Given the description of an element on the screen output the (x, y) to click on. 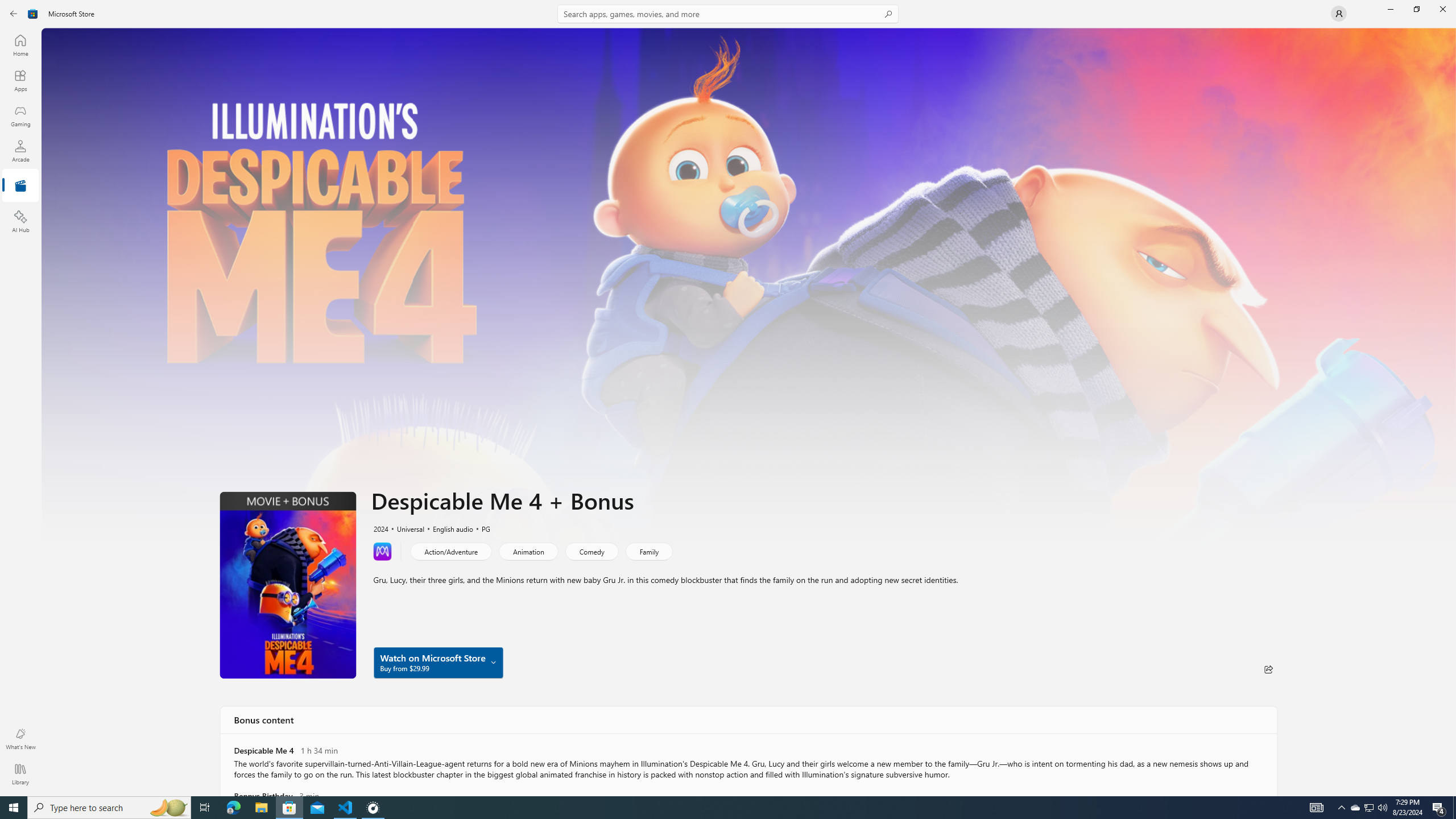
Watch on Microsoft Store Buy from $29.99 (437, 662)
Learn more about Movies Anywhere (381, 551)
Family (648, 551)
Share (1267, 669)
Search (727, 13)
Close Microsoft Store (1442, 9)
Restore Microsoft Store (1416, 9)
Home (20, 45)
Class: Image (32, 13)
AI Hub (20, 221)
Entertainment (20, 185)
Library (20, 773)
AutomationID: NavigationControl (728, 398)
